Given the description of an element on the screen output the (x, y) to click on. 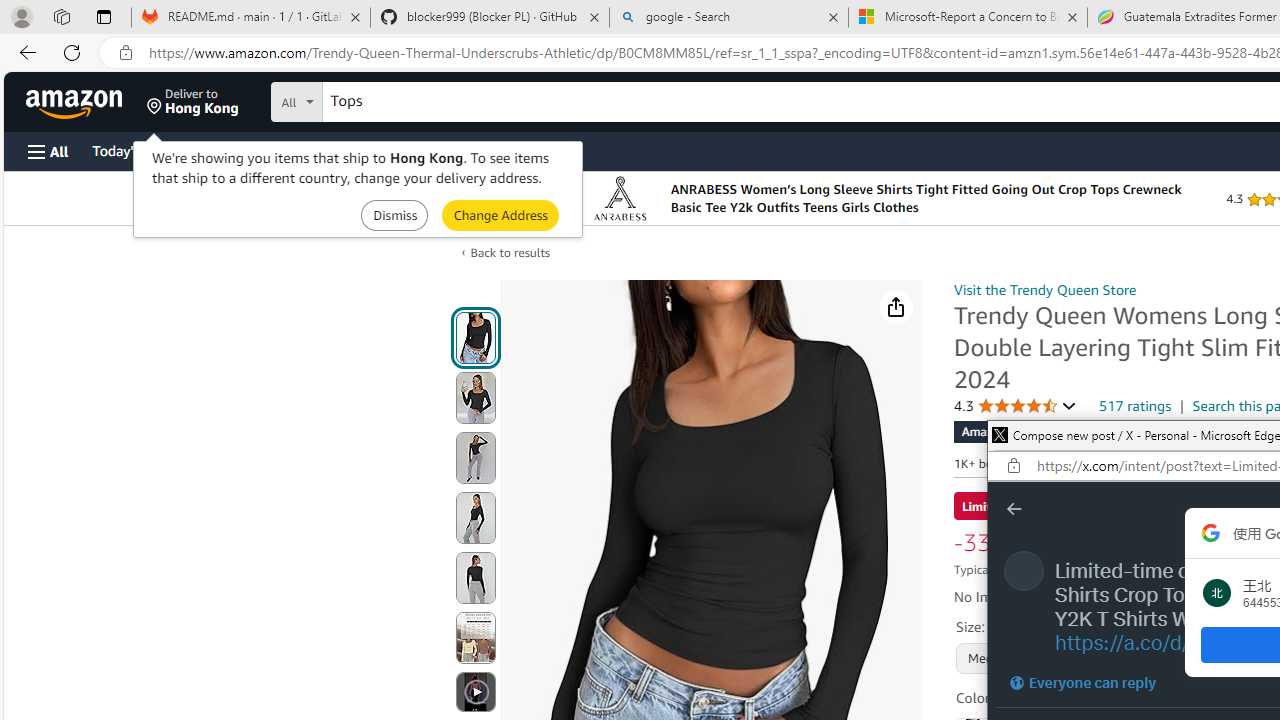
Submit (499, 214)
